Given the description of an element on the screen output the (x, y) to click on. 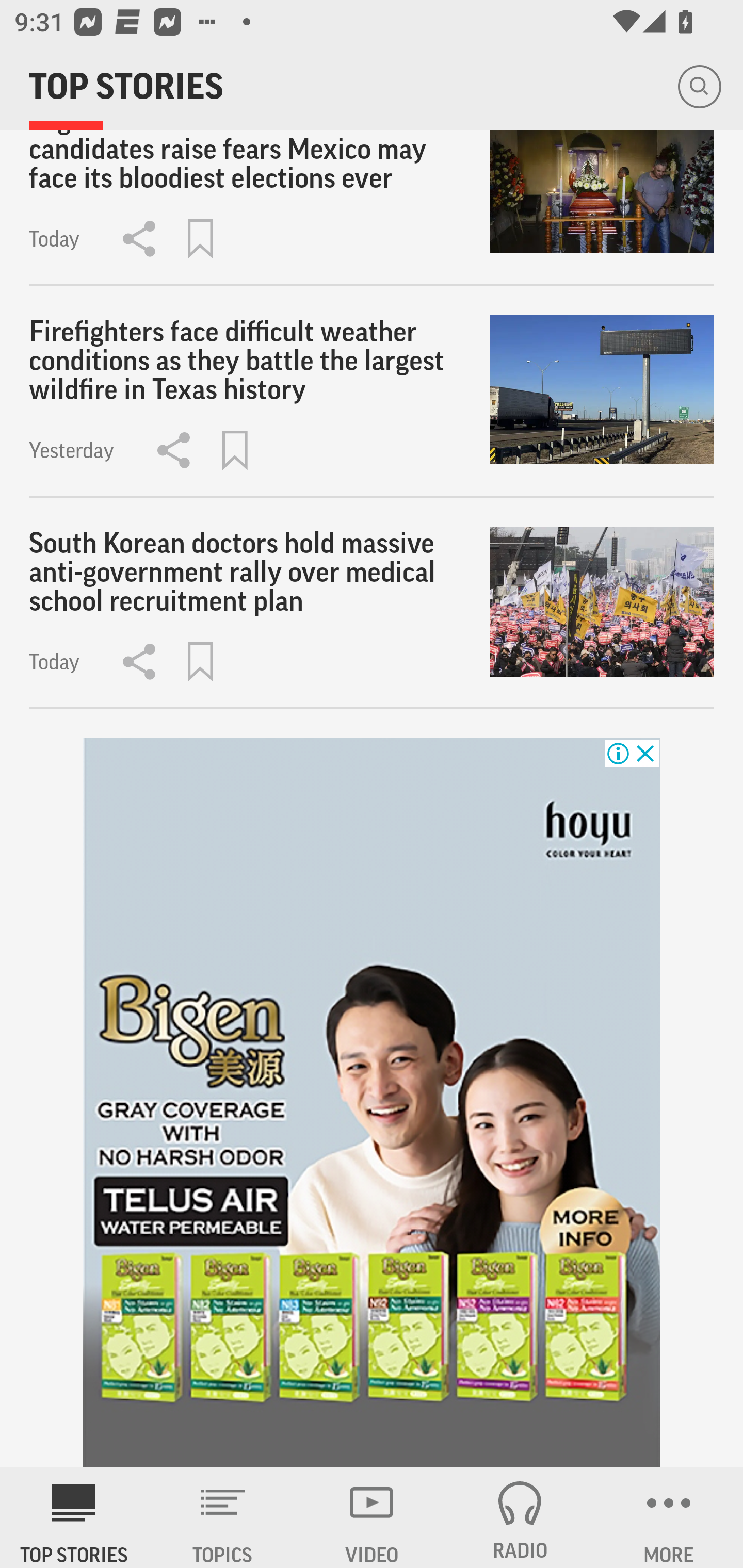
8 (371, 1102)
AP News TOP STORIES (74, 1517)
TOPICS (222, 1517)
VIDEO (371, 1517)
RADIO (519, 1517)
MORE (668, 1517)
